Given the description of an element on the screen output the (x, y) to click on. 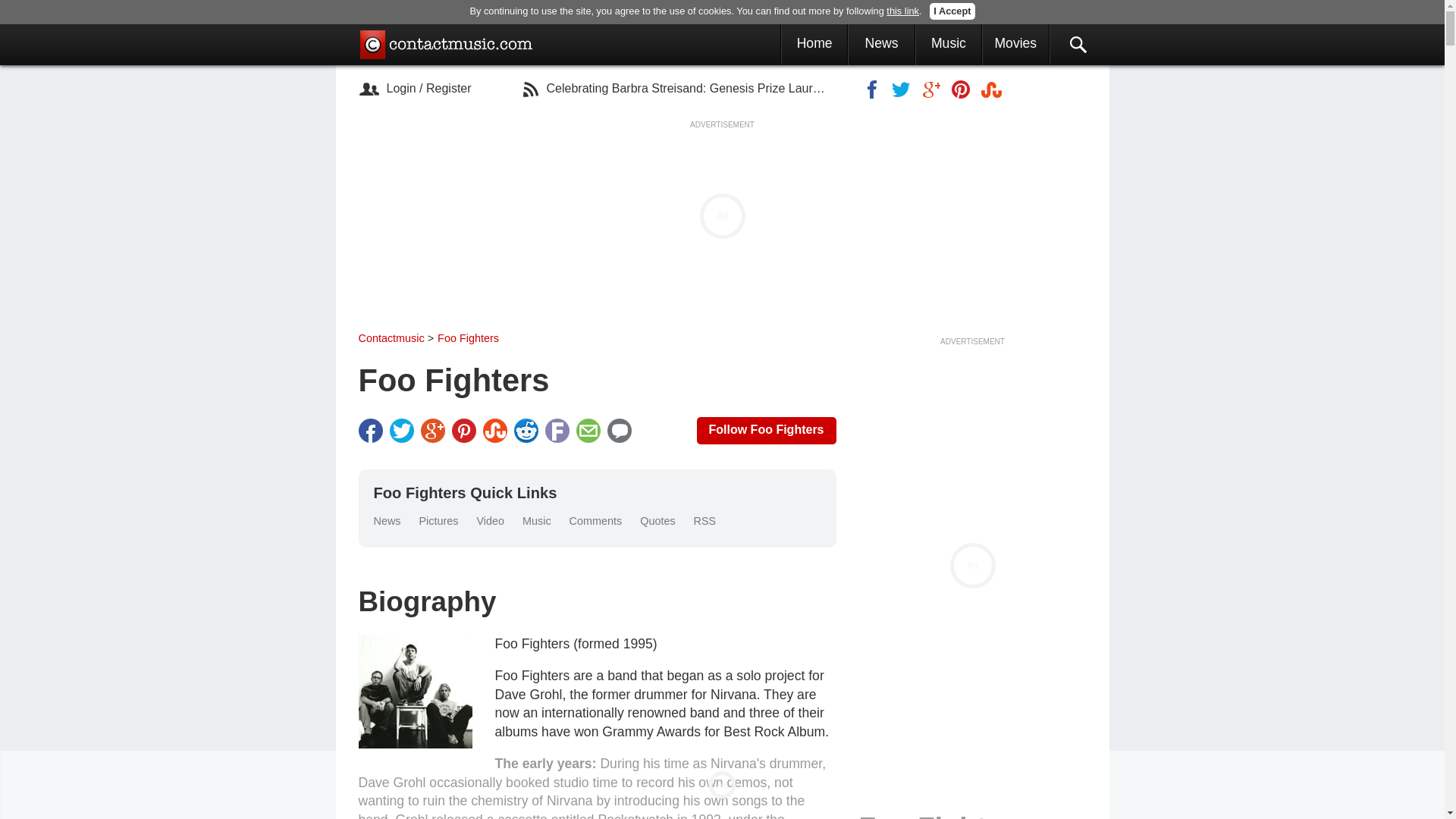
Movies (1015, 43)
Music (948, 43)
News (881, 43)
Home (814, 43)
